Given the description of an element on the screen output the (x, y) to click on. 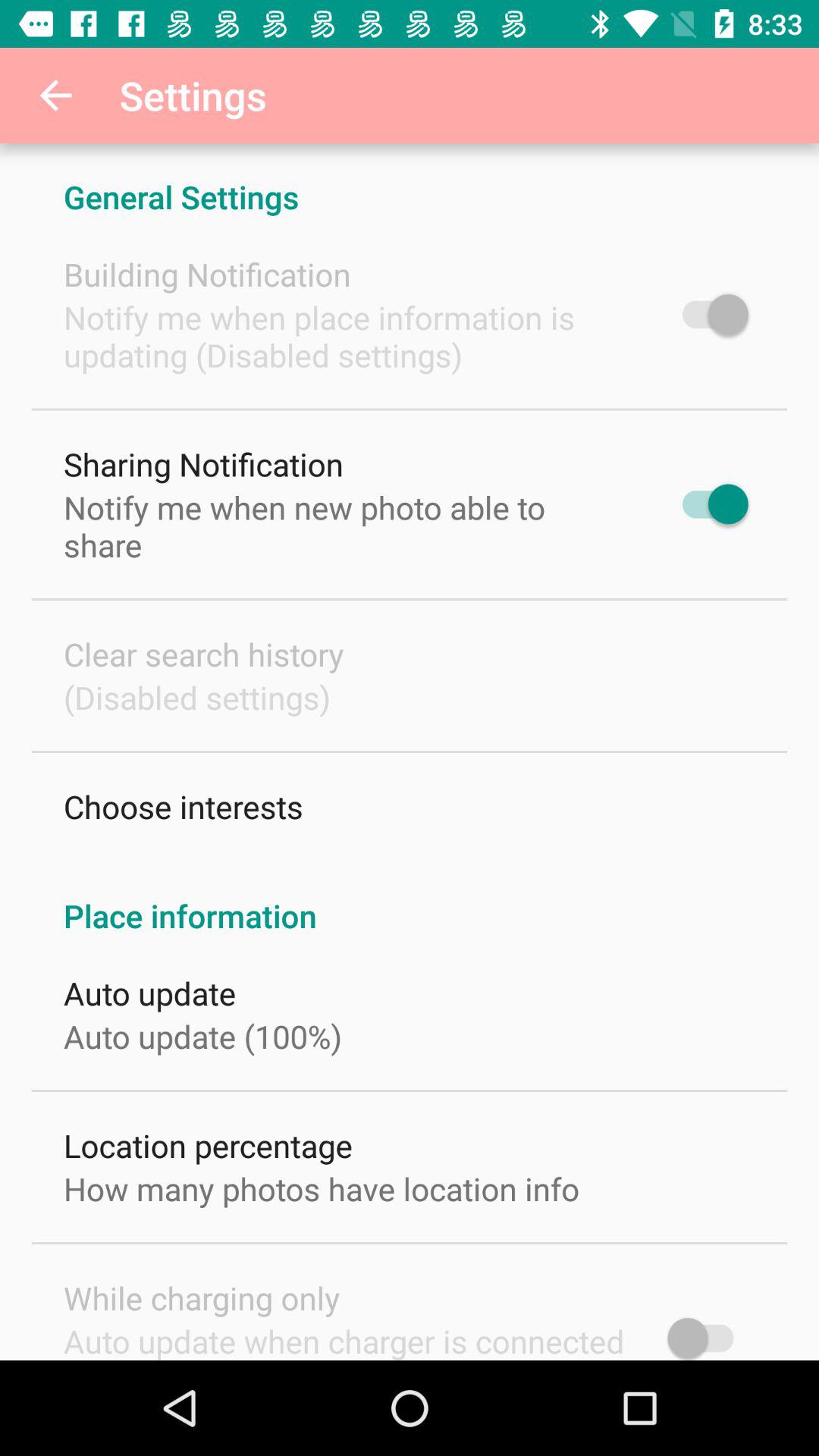
open the item below the notify me when (203, 463)
